Given the description of an element on the screen output the (x, y) to click on. 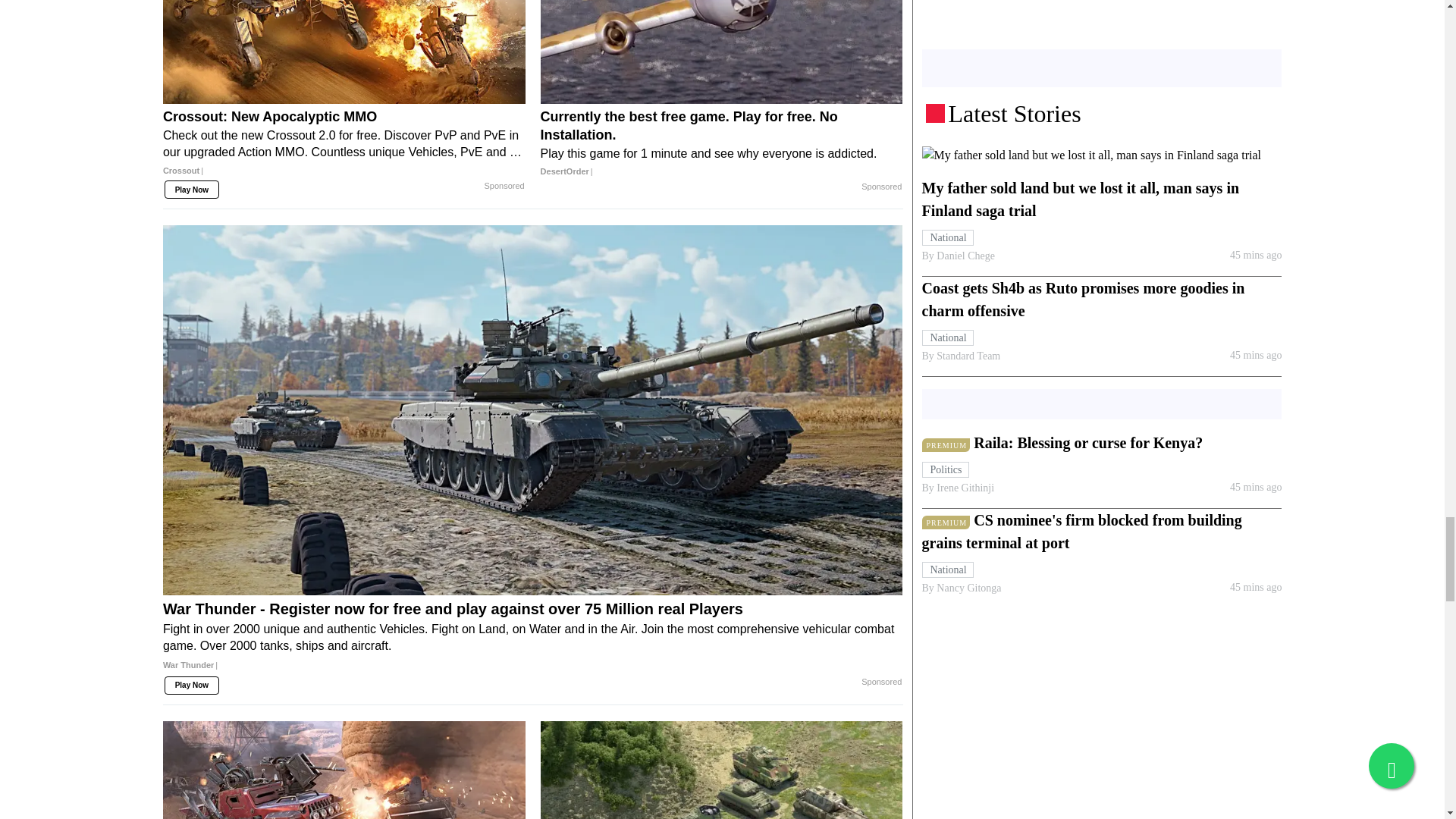
Crossout: New Apocalyptic MMO (344, 52)
Crossout: New Apocalyptic MMO (344, 148)
